Given the description of an element on the screen output the (x, y) to click on. 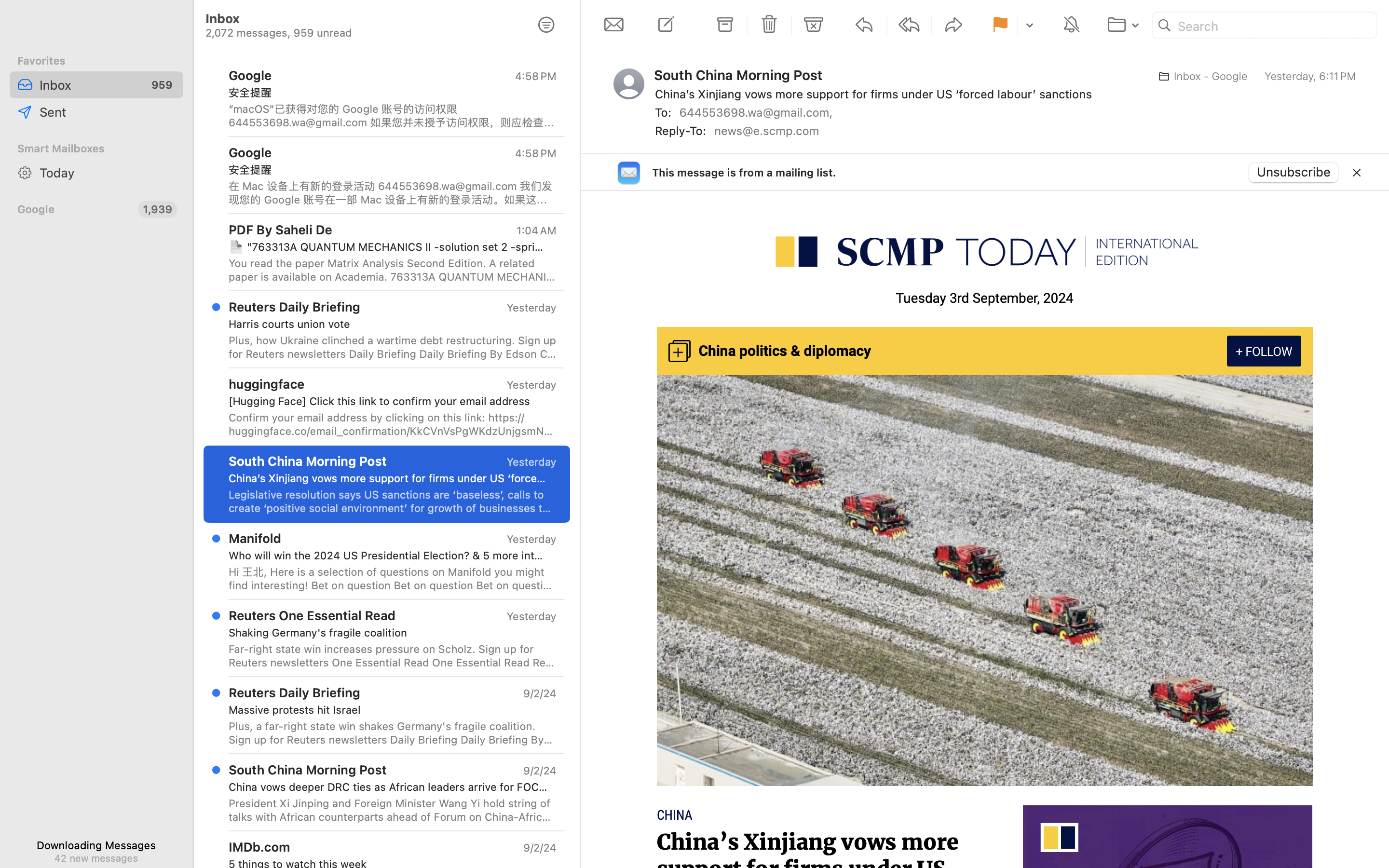
PDF By Saheli De Element type: AXStaticText (280, 229)
Tuesday 3rd September, 2024 Element type: AXStaticText (984, 298)
Yesterday Element type: AXStaticText (531, 461)
安全提醒 Element type: AXStaticText (388, 92)
Who will win the 2024 US Presidential Election? & 5 more interesting markets on Manifold Element type: AXStaticText (388, 555)
